Given the description of an element on the screen output the (x, y) to click on. 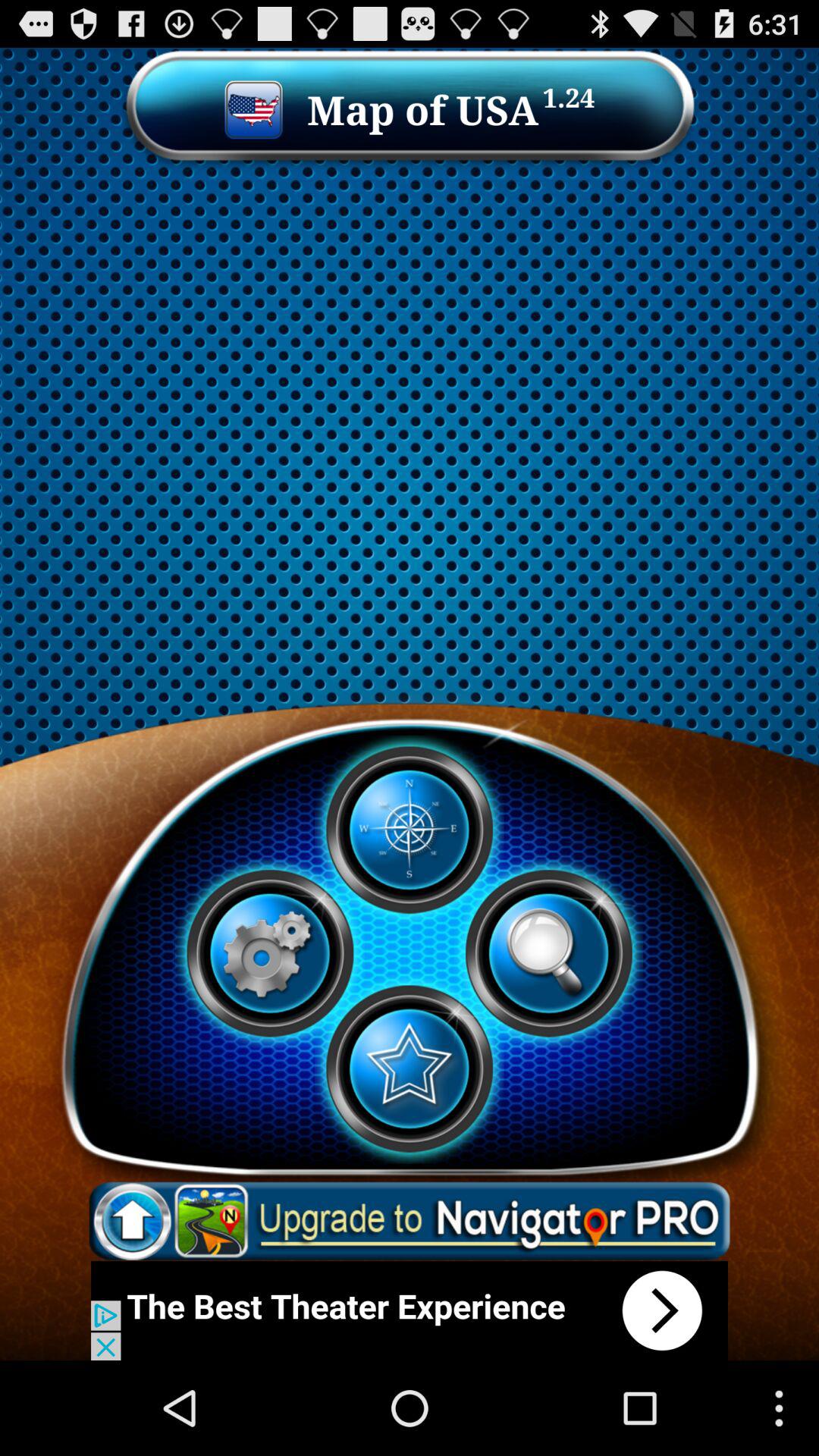
go to play (548, 953)
